Given the description of an element on the screen output the (x, y) to click on. 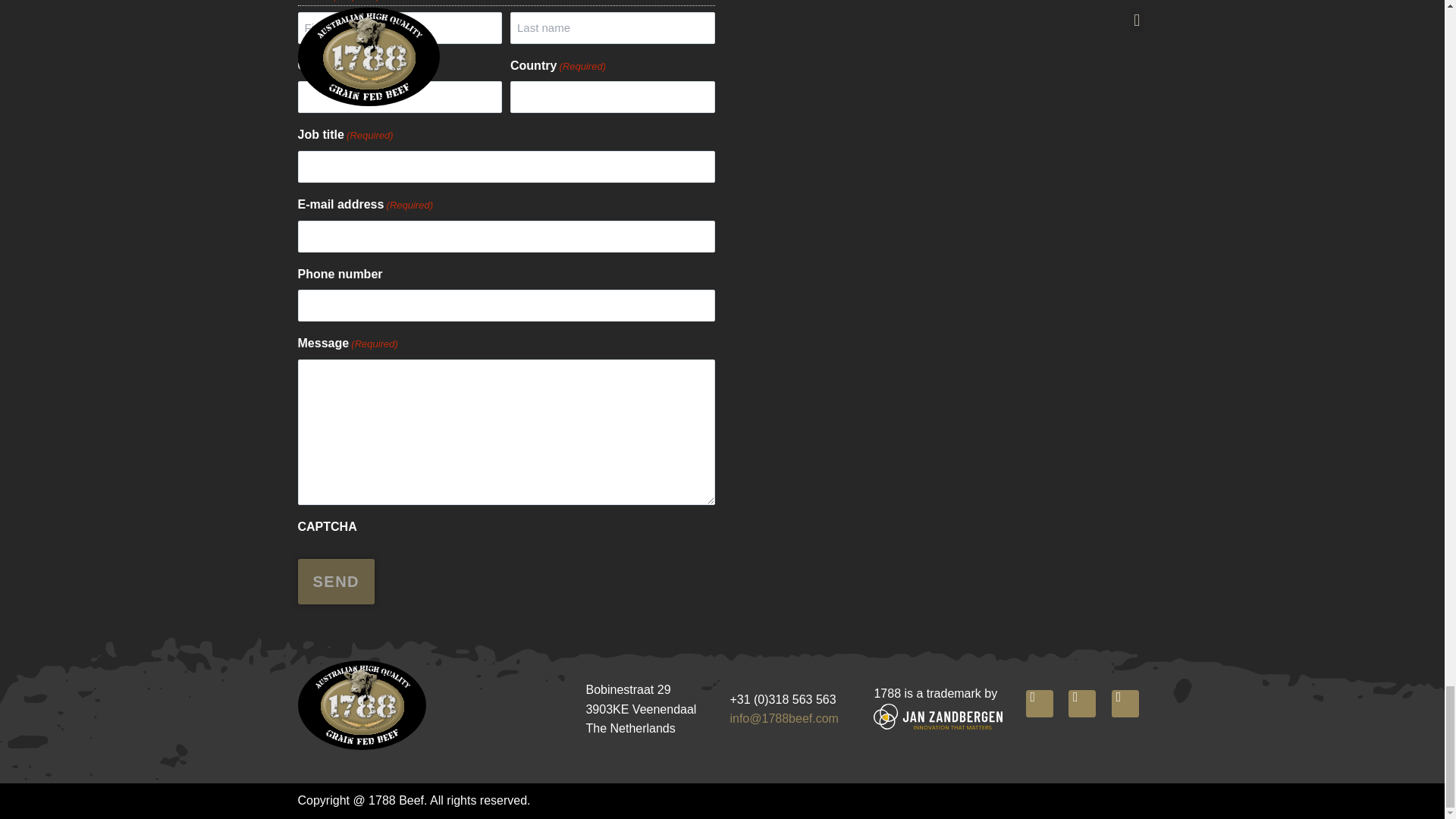
Send (335, 581)
Send (335, 581)
